Given the description of an element on the screen output the (x, y) to click on. 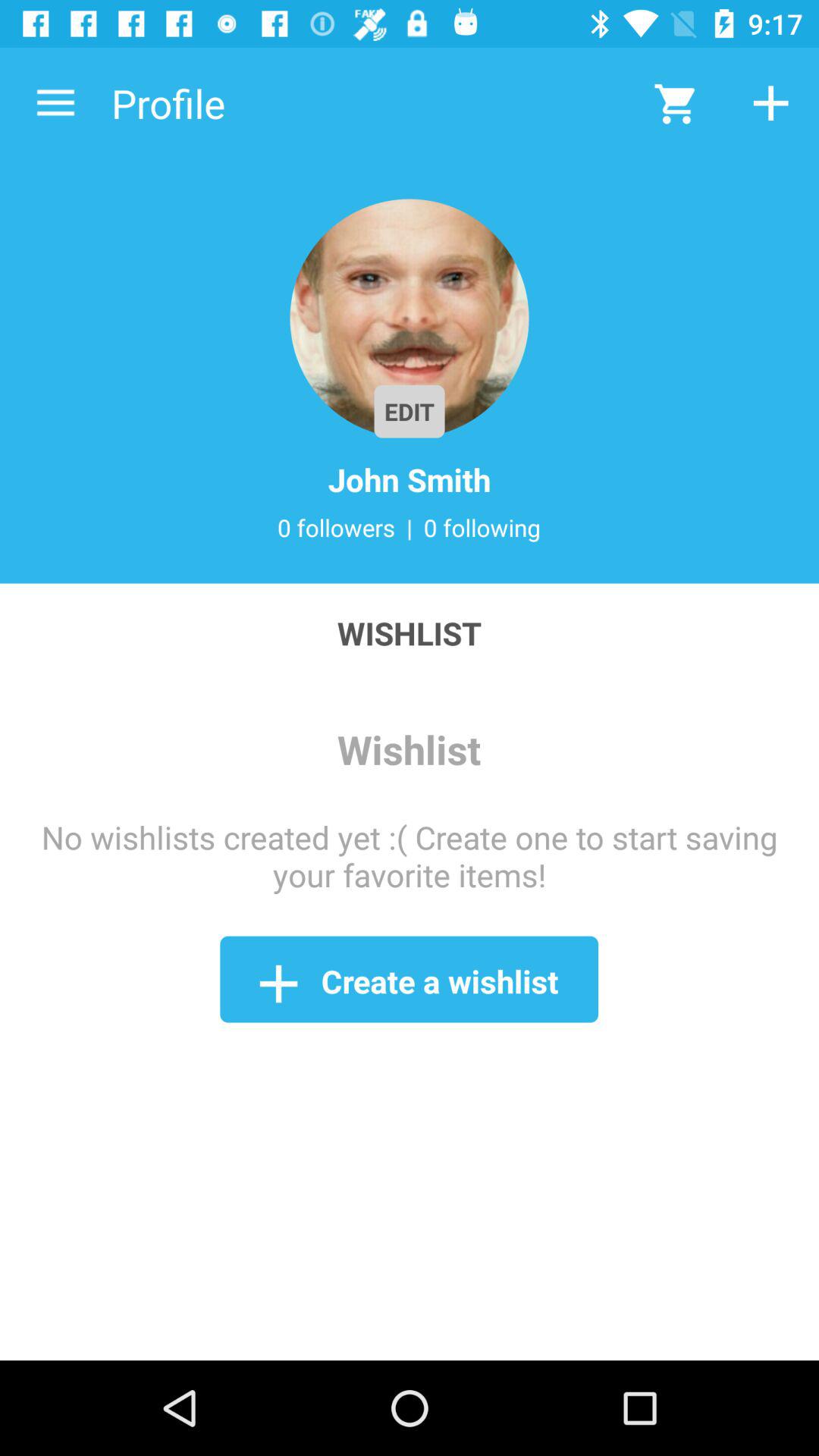
press item above     create a wishlist (409, 855)
